Given the description of an element on the screen output the (x, y) to click on. 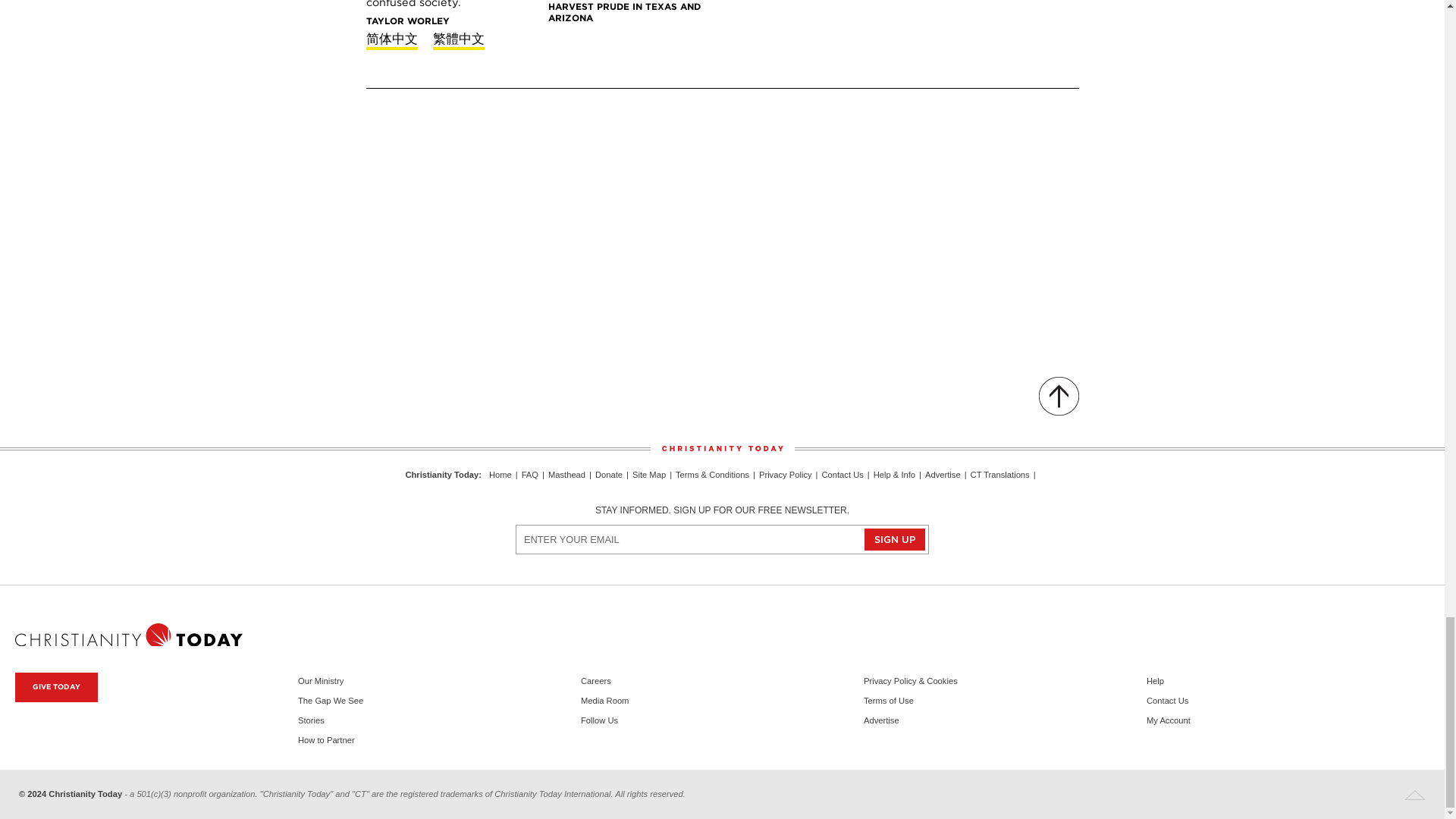
Sign Up (894, 539)
